Given the description of an element on the screen output the (x, y) to click on. 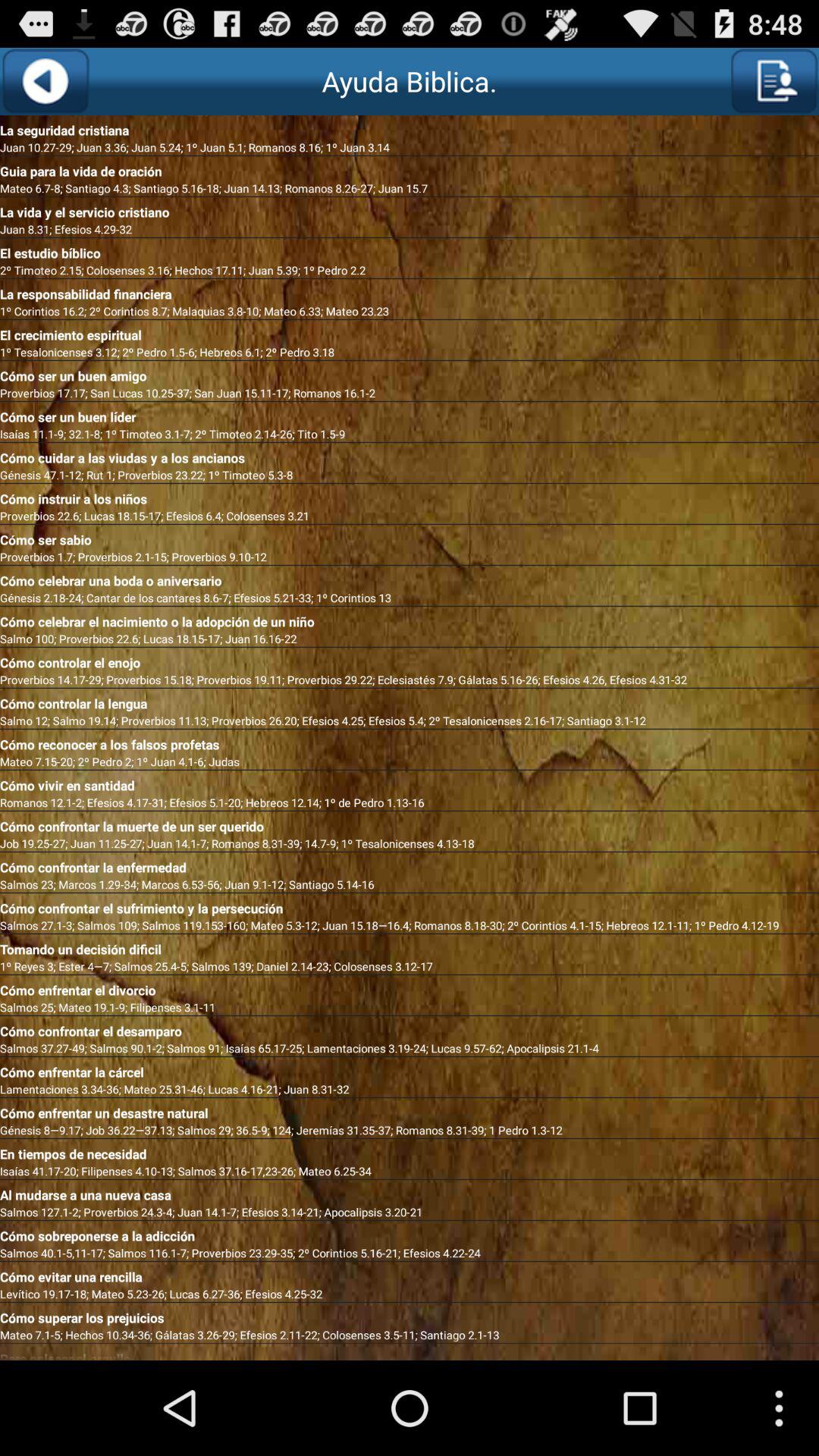
turn on the icon next to the ayuda biblica. icon (45, 81)
